Given the description of an element on the screen output the (x, y) to click on. 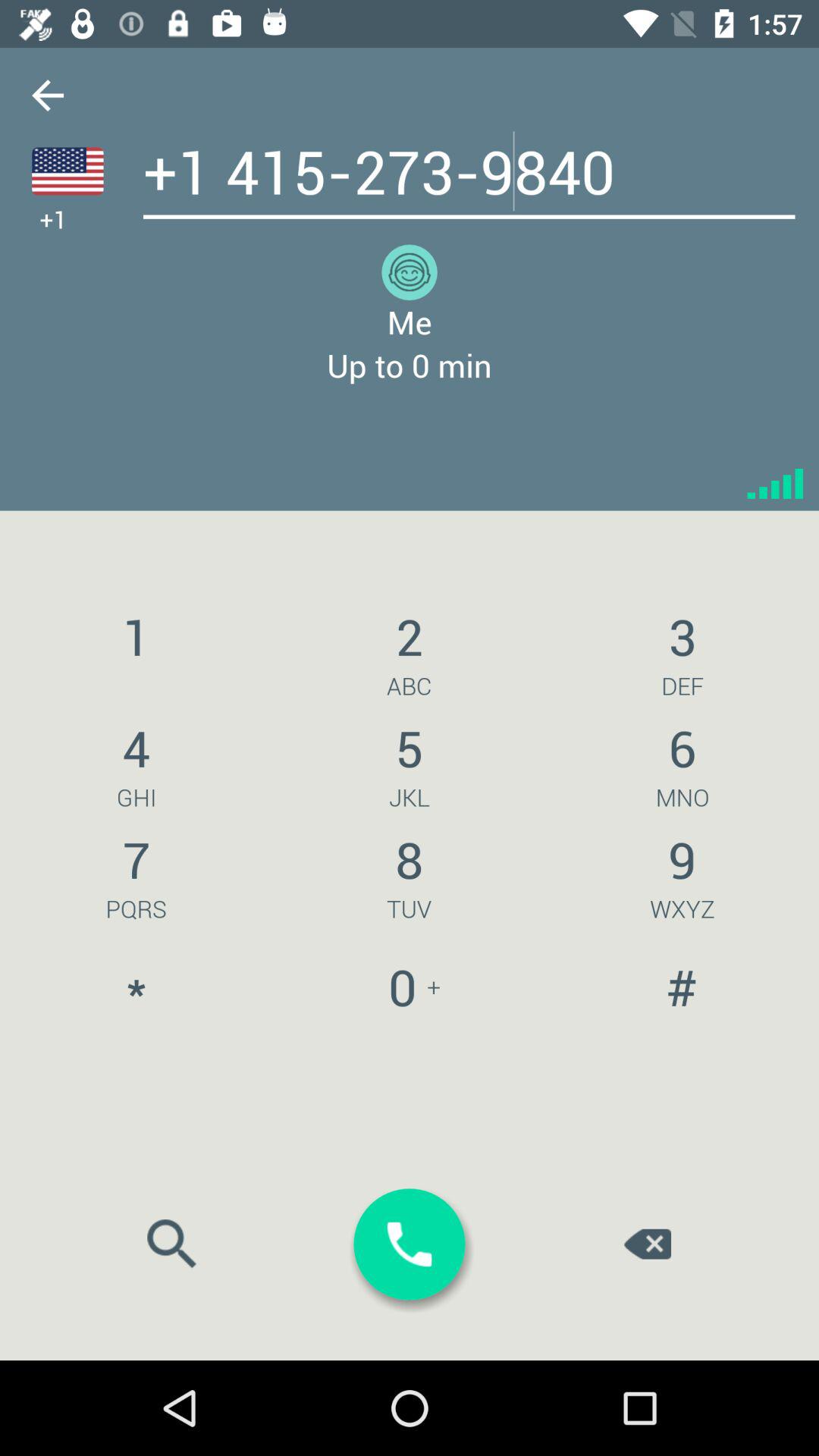
call this number (409, 1244)
